Given the description of an element on the screen output the (x, y) to click on. 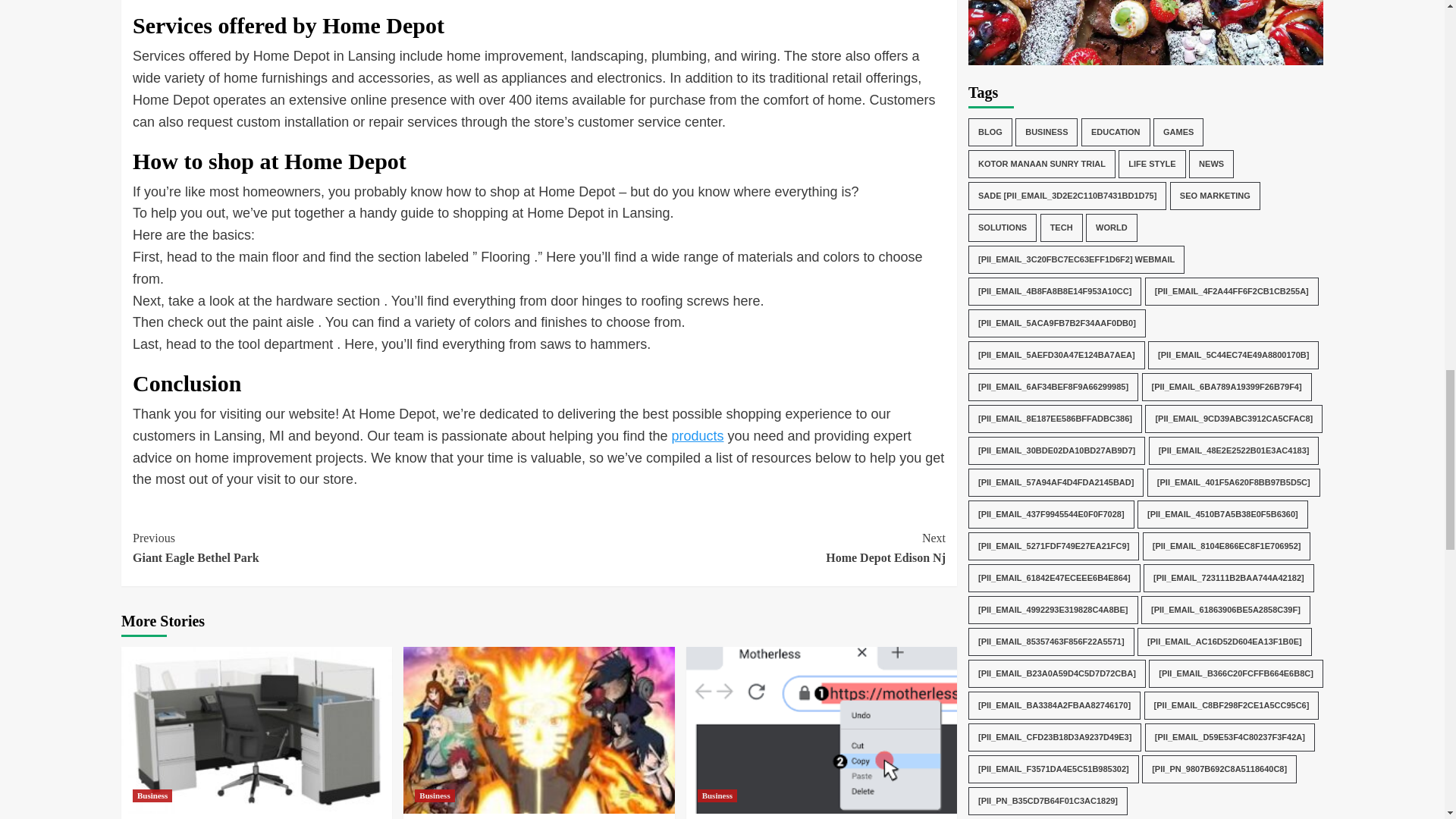
Business (151, 795)
products (697, 435)
Business (434, 795)
